Given the description of an element on the screen output the (x, y) to click on. 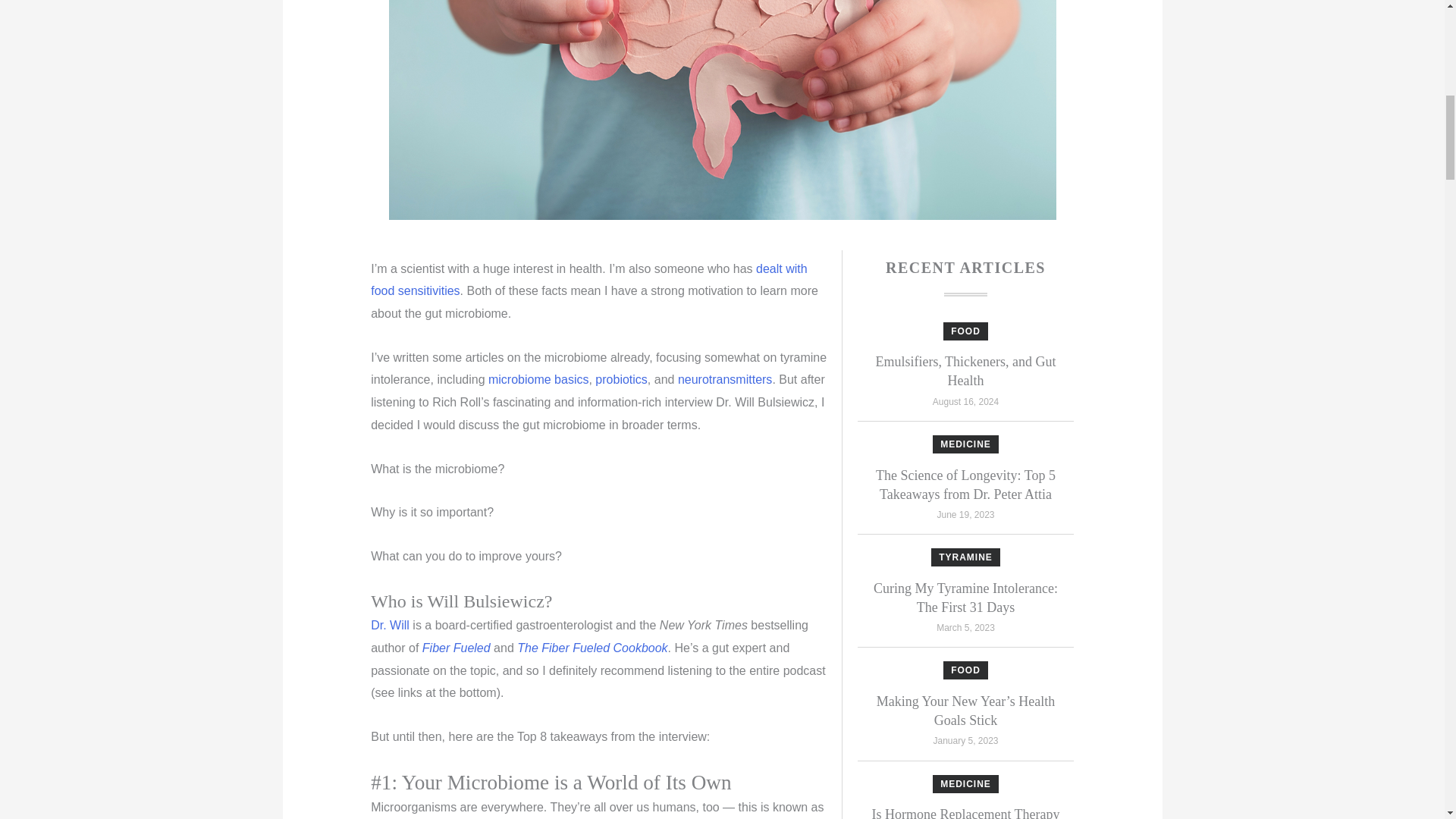
FOOD (964, 330)
Emulsifiers, Thickeners, and Gut Health (965, 370)
Dr. Will (390, 625)
Fiber Fueled (456, 647)
The Fiber Fueled Cookbook (591, 647)
neurotransmitters (725, 379)
TYRAMINE (965, 557)
dealt with food sensitivities (588, 280)
microbiome basics (537, 379)
